Given the description of an element on the screen output the (x, y) to click on. 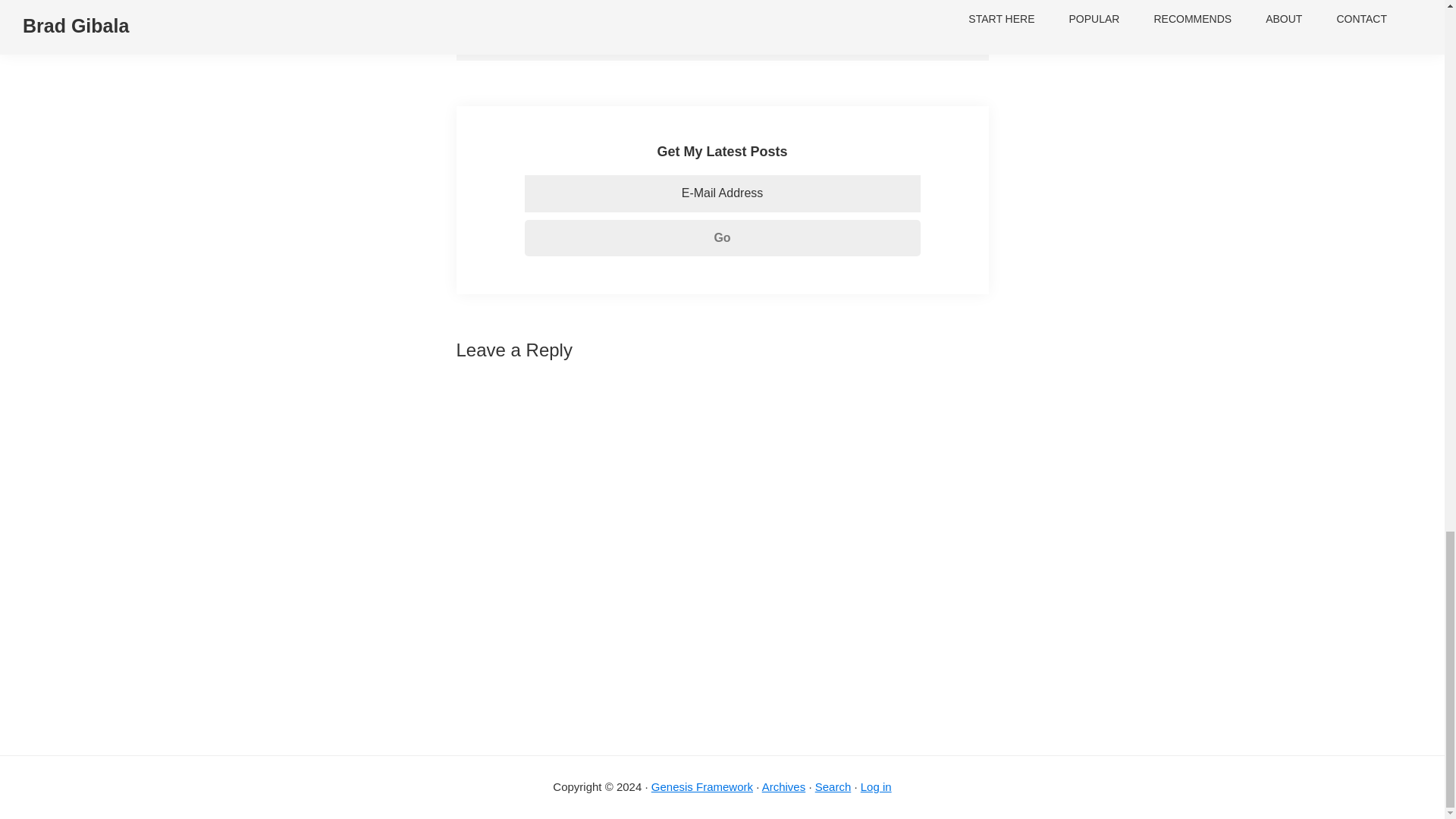
About (829, 25)
Go (722, 238)
Recommends (901, 25)
Archives (783, 786)
Start Here (769, 25)
Go (722, 238)
Genesis Framework (701, 786)
Contact (702, 25)
Search (833, 786)
